Given the description of an element on the screen output the (x, y) to click on. 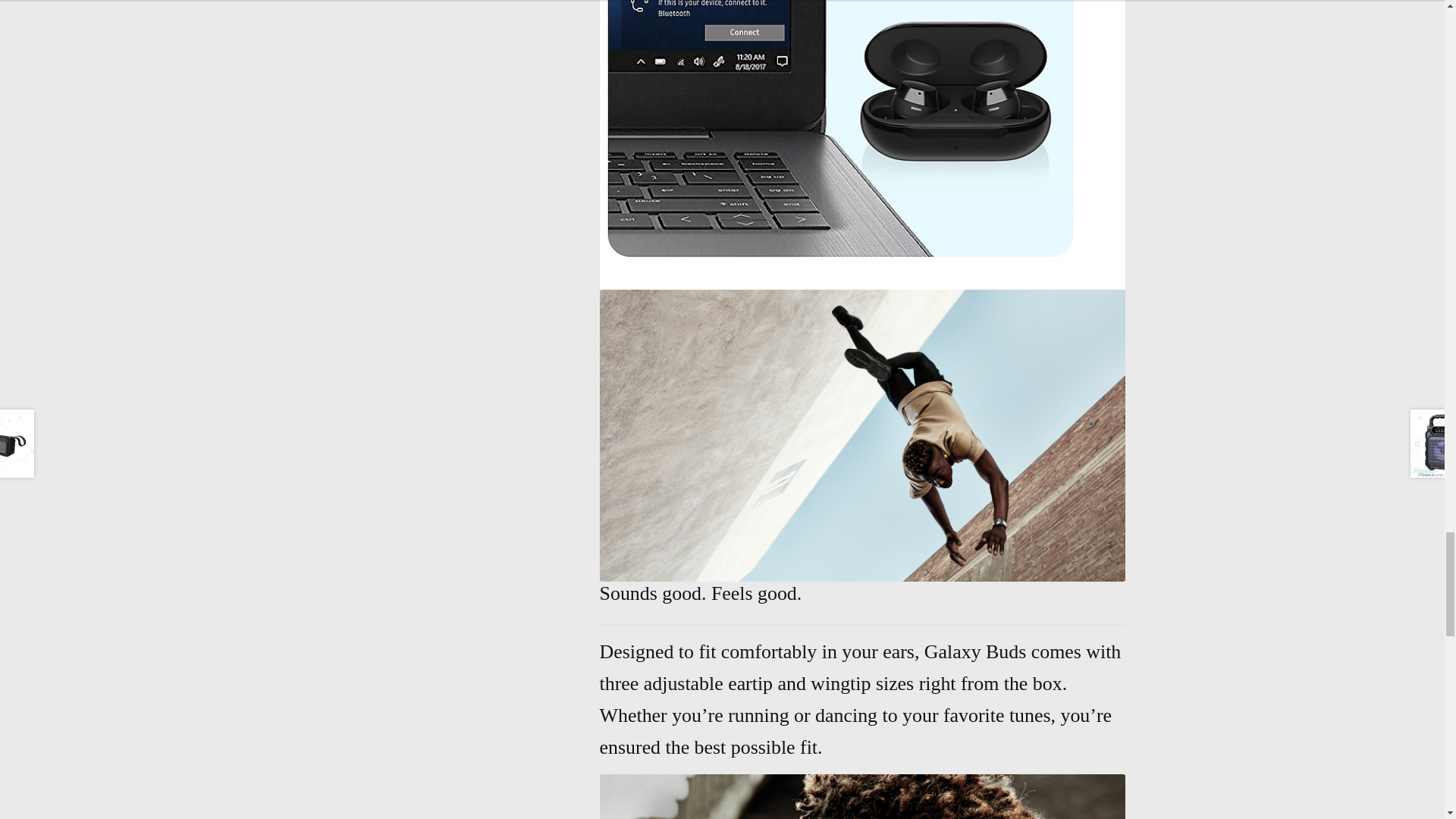
Resists water (862, 796)
